Given the description of an element on the screen output the (x, y) to click on. 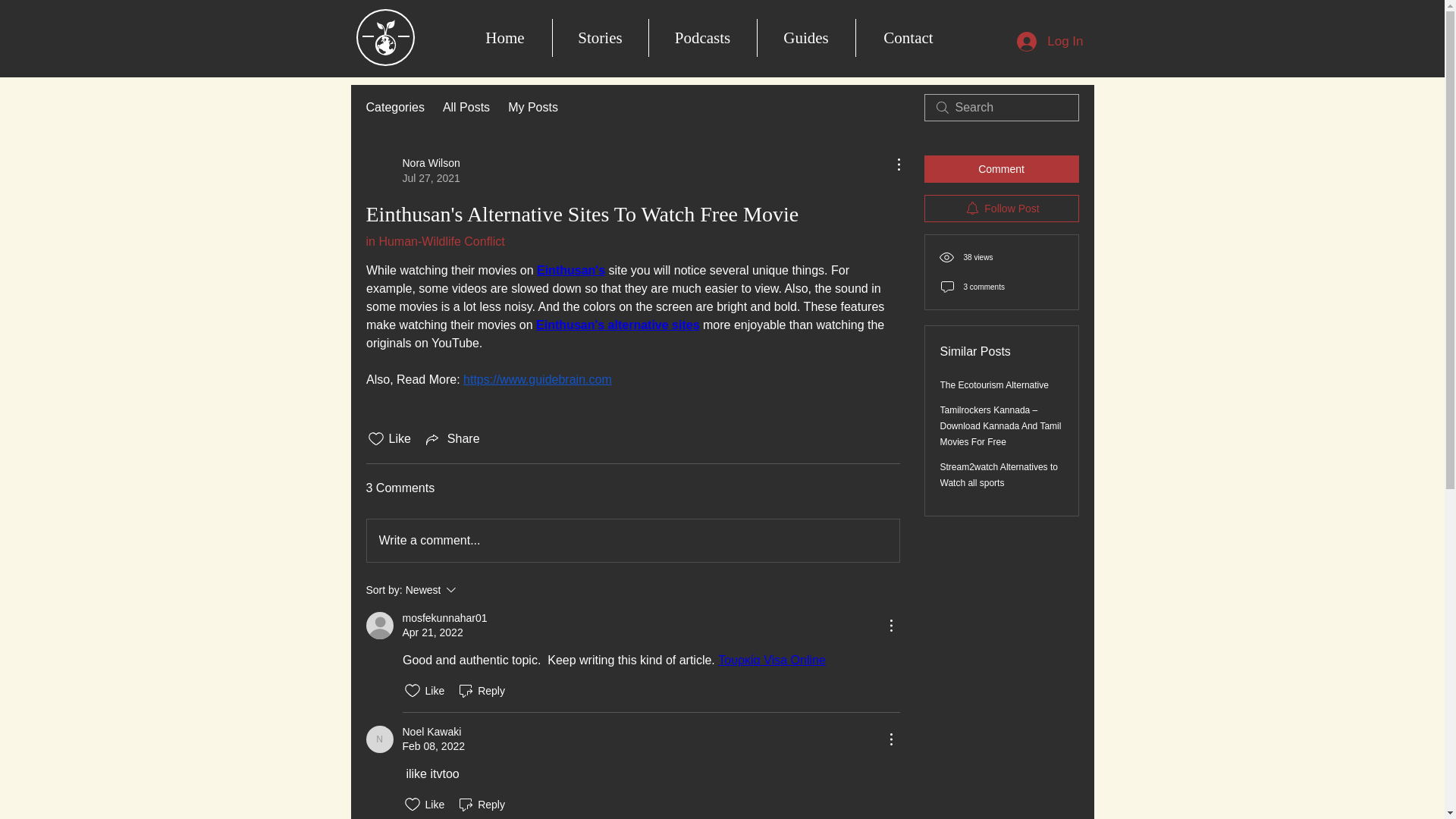
Stories (599, 37)
Reply (412, 170)
Einthusan's alternative sites (481, 804)
in Human-Wildlife Conflict (616, 324)
Categories (434, 241)
Podcasts (394, 107)
Noel Kawaki (701, 37)
Reply (471, 589)
Contact (379, 738)
All Posts (481, 690)
Noel Kawaki (908, 37)
Guides (465, 107)
mosfekunnahar01 (431, 731)
